Given the description of an element on the screen output the (x, y) to click on. 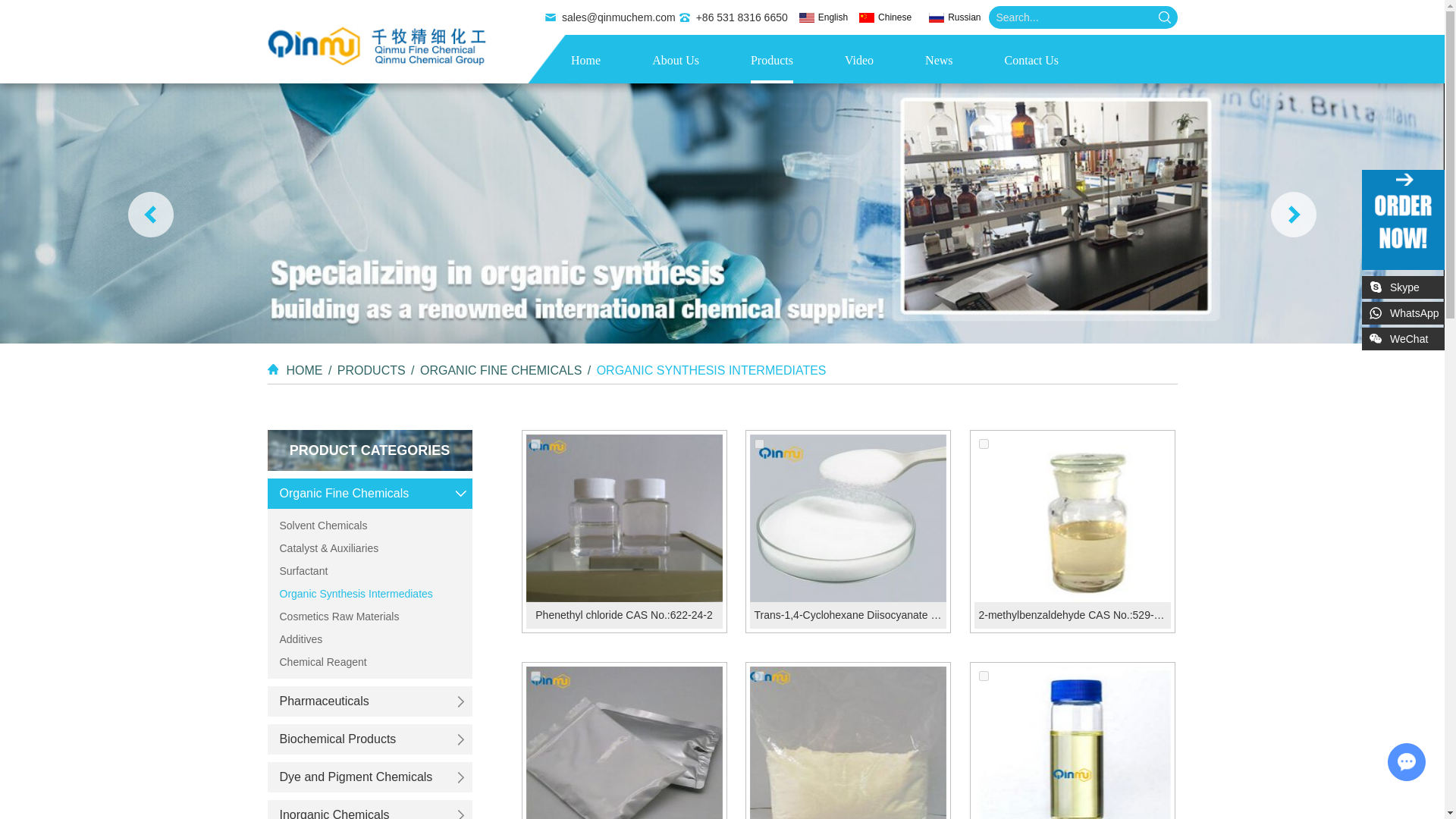
English (832, 17)
837 (535, 443)
833 (759, 443)
Products (772, 60)
825 (759, 675)
Chinese (894, 17)
About Us (675, 60)
832 (983, 443)
Contact Us (1031, 60)
826 (535, 675)
Jinan Qinmu Fine Chemical Co., Ltd. (376, 44)
About Us (675, 60)
Russian (963, 17)
Products (772, 60)
824 (983, 675)
